Given the description of an element on the screen output the (x, y) to click on. 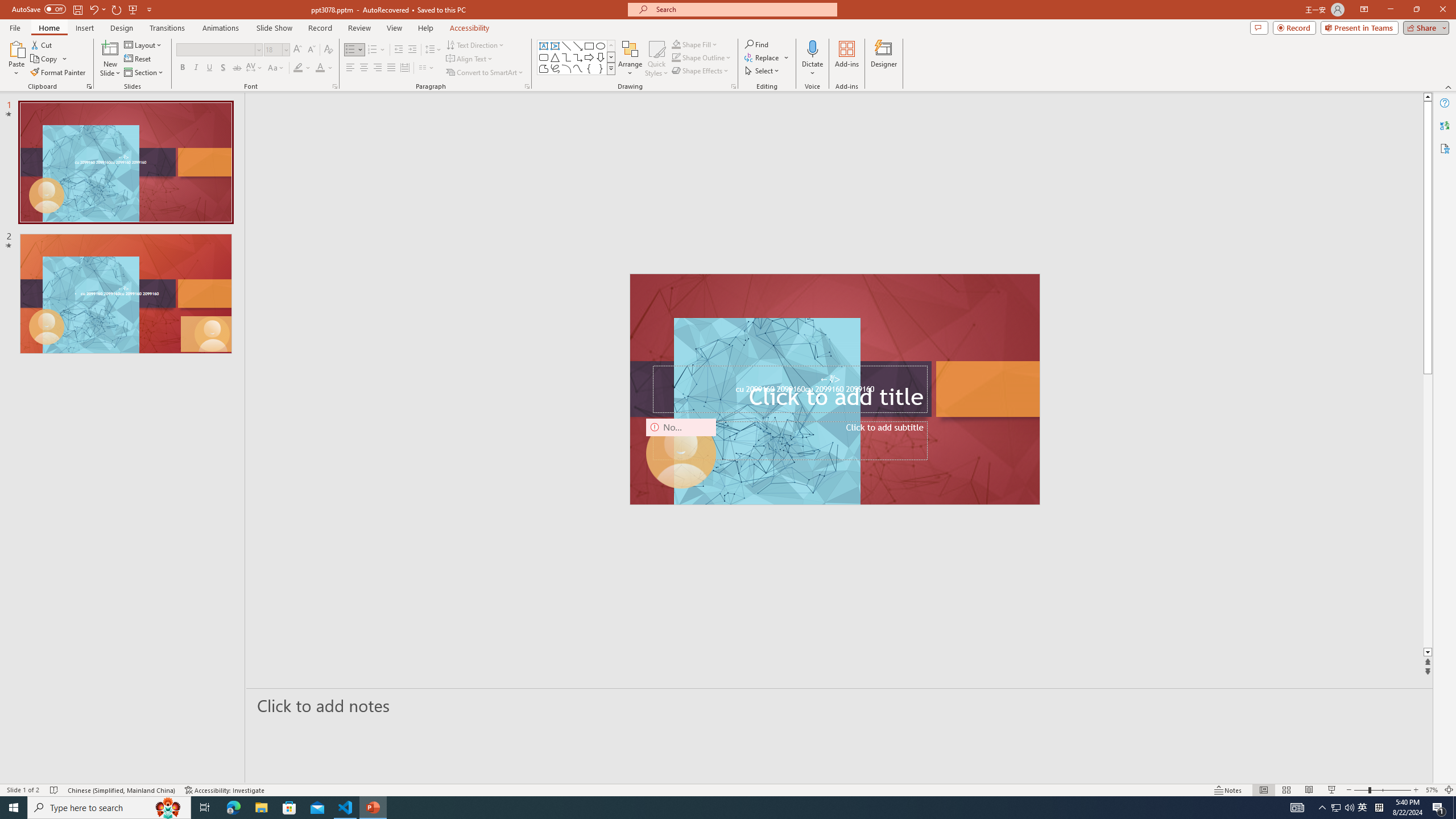
Decrease Font Size (310, 49)
Shape Outline (701, 56)
Bold (182, 67)
Underline (209, 67)
Paragraph... (526, 85)
